Given the description of an element on the screen output the (x, y) to click on. 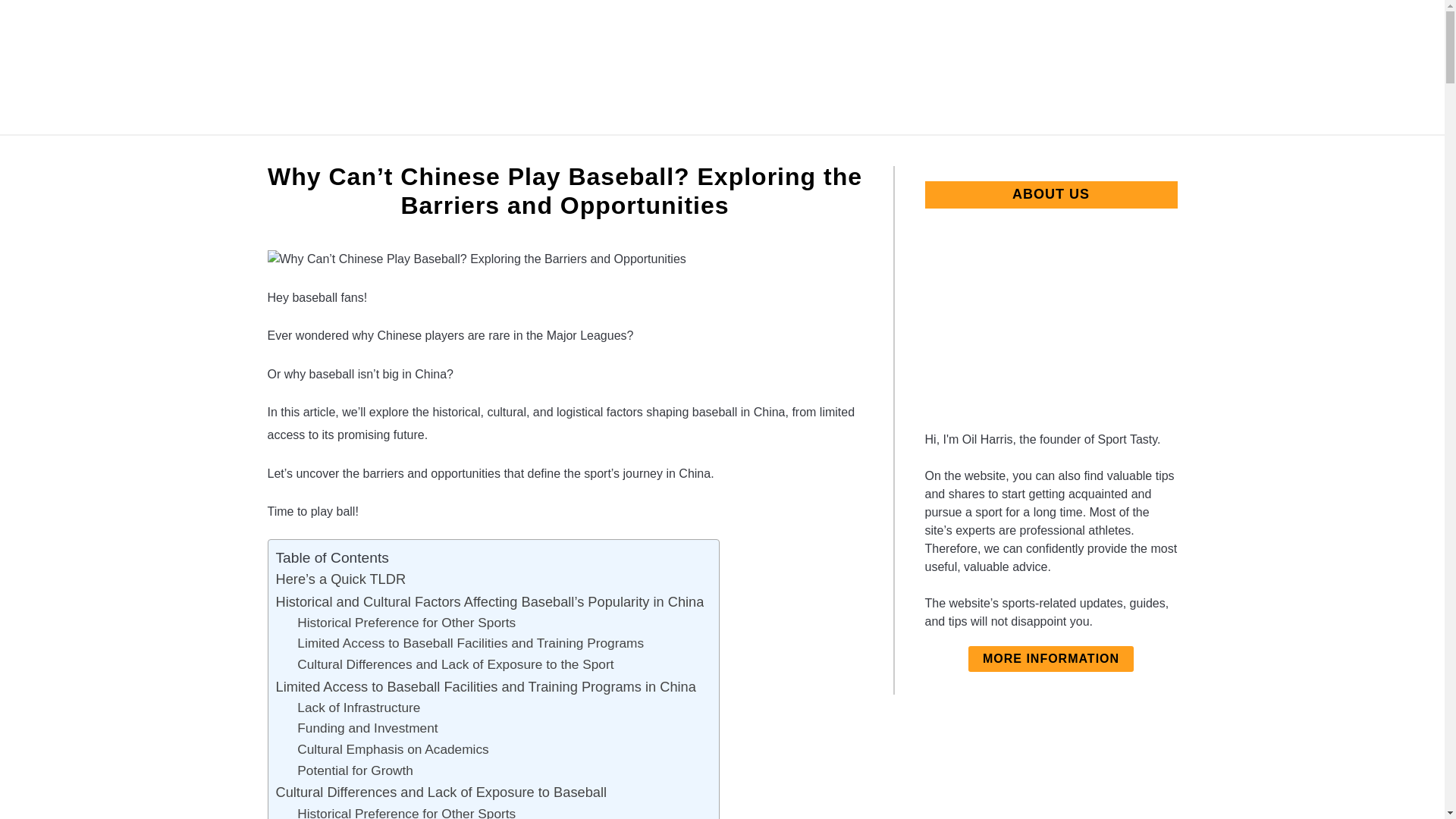
Funding and Investment (367, 728)
Potential for Growth (355, 771)
CYCLING (576, 152)
Cultural Emphasis on Academics (392, 749)
Cultural Differences and Lack of Exposure to the Sport (454, 664)
Limited Access to Baseball Facilities and Training Programs (470, 643)
TENNIS (661, 152)
Historical Preference for Other Sports (406, 811)
Historical Preference for Other Sports (406, 811)
Potential for Growth (355, 771)
Limited Access to Baseball Facilities and Training Programs (470, 643)
Cultural Emphasis on Academics (392, 749)
HOME (495, 152)
Cultural Differences and Lack of Exposure to Baseball (441, 792)
